Given the description of an element on the screen output the (x, y) to click on. 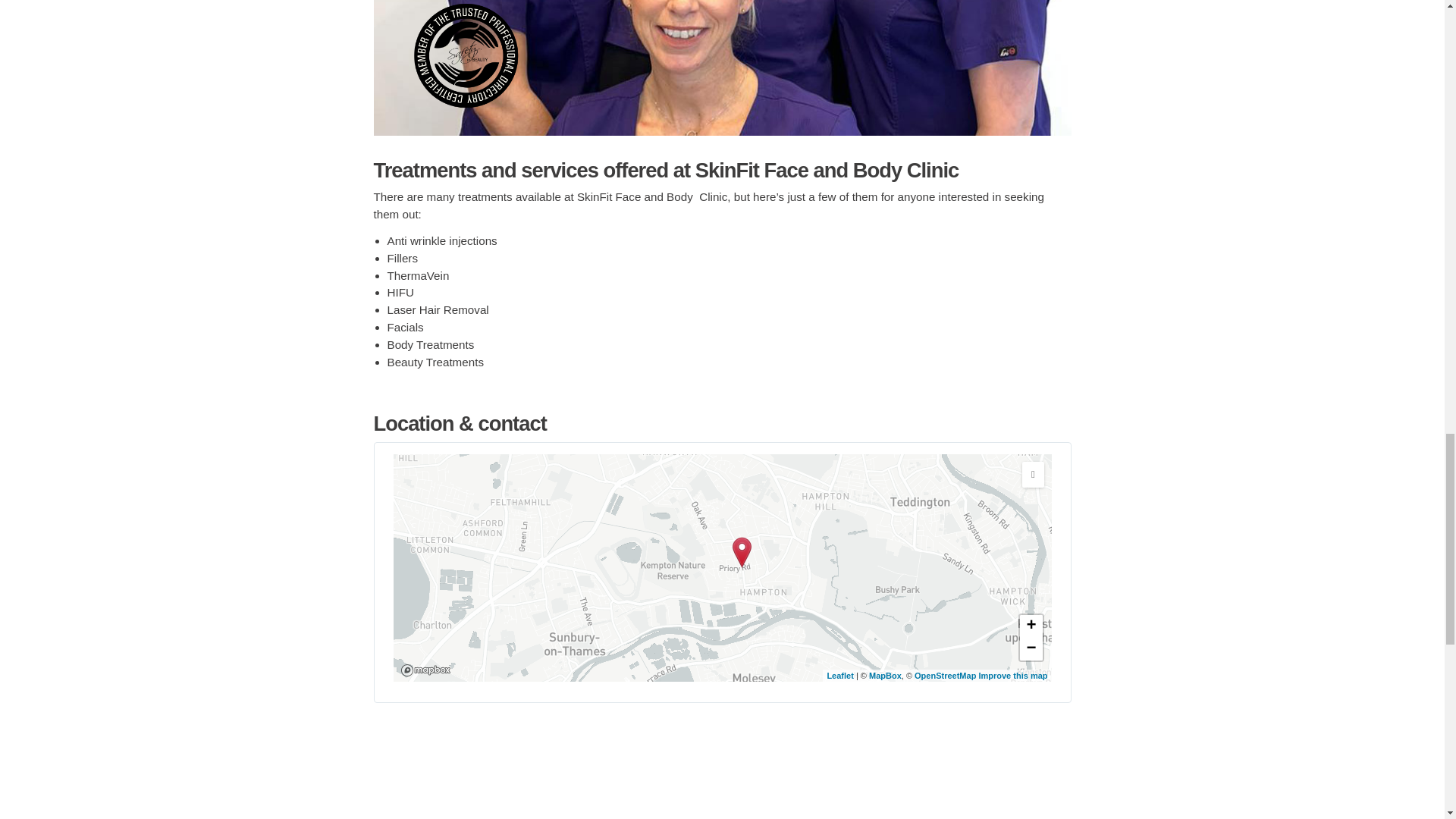
MapBox (885, 675)
Improve this map (1012, 675)
Zoom out (1030, 649)
Leaflet (840, 675)
Zoom in (1030, 626)
A JS library for interactive maps (840, 675)
OpenStreetMap (944, 675)
Resize map (1032, 474)
